Given the description of an element on the screen output the (x, y) to click on. 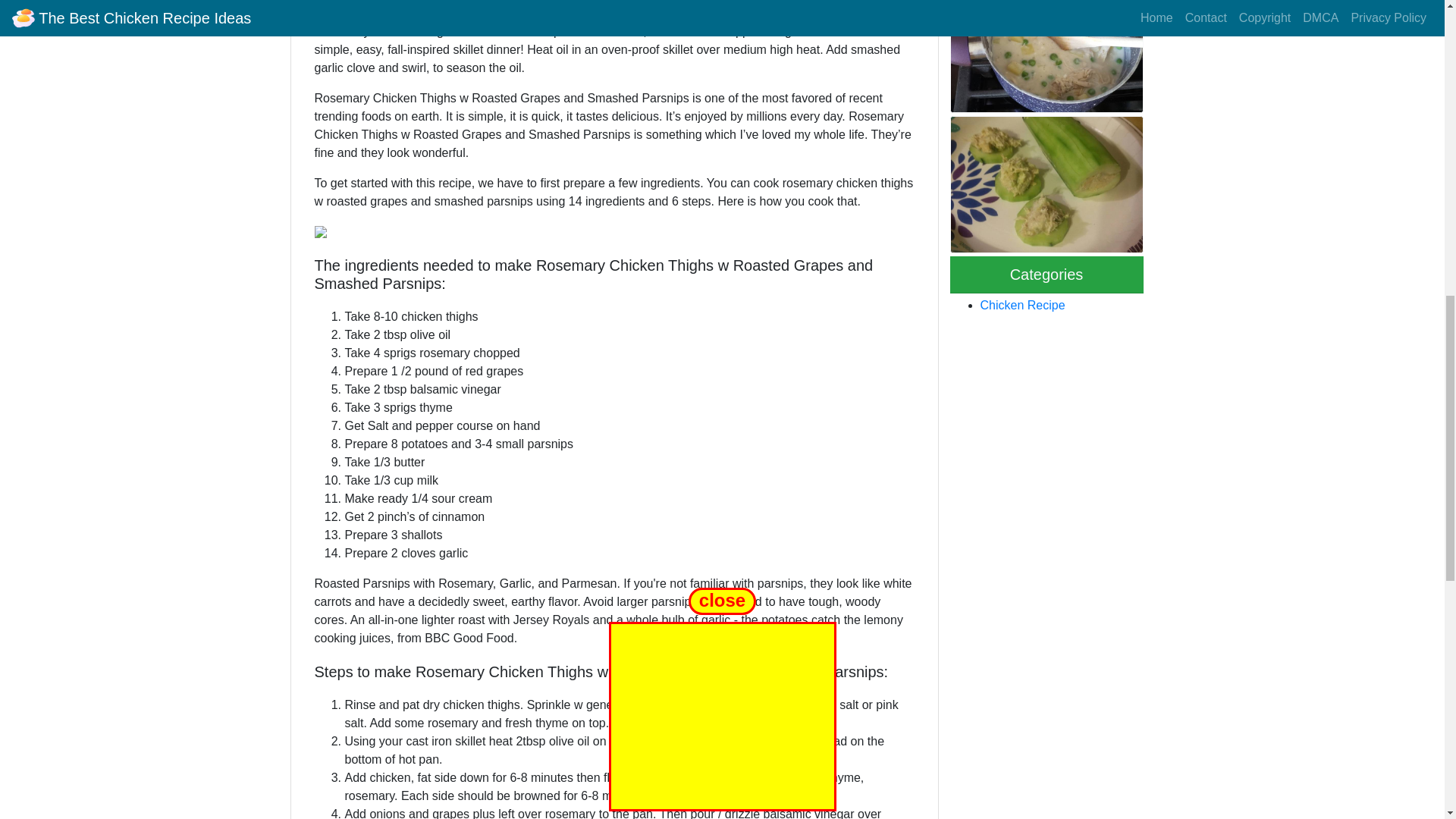
Chicken Recipe (1021, 305)
